Given the description of an element on the screen output the (x, y) to click on. 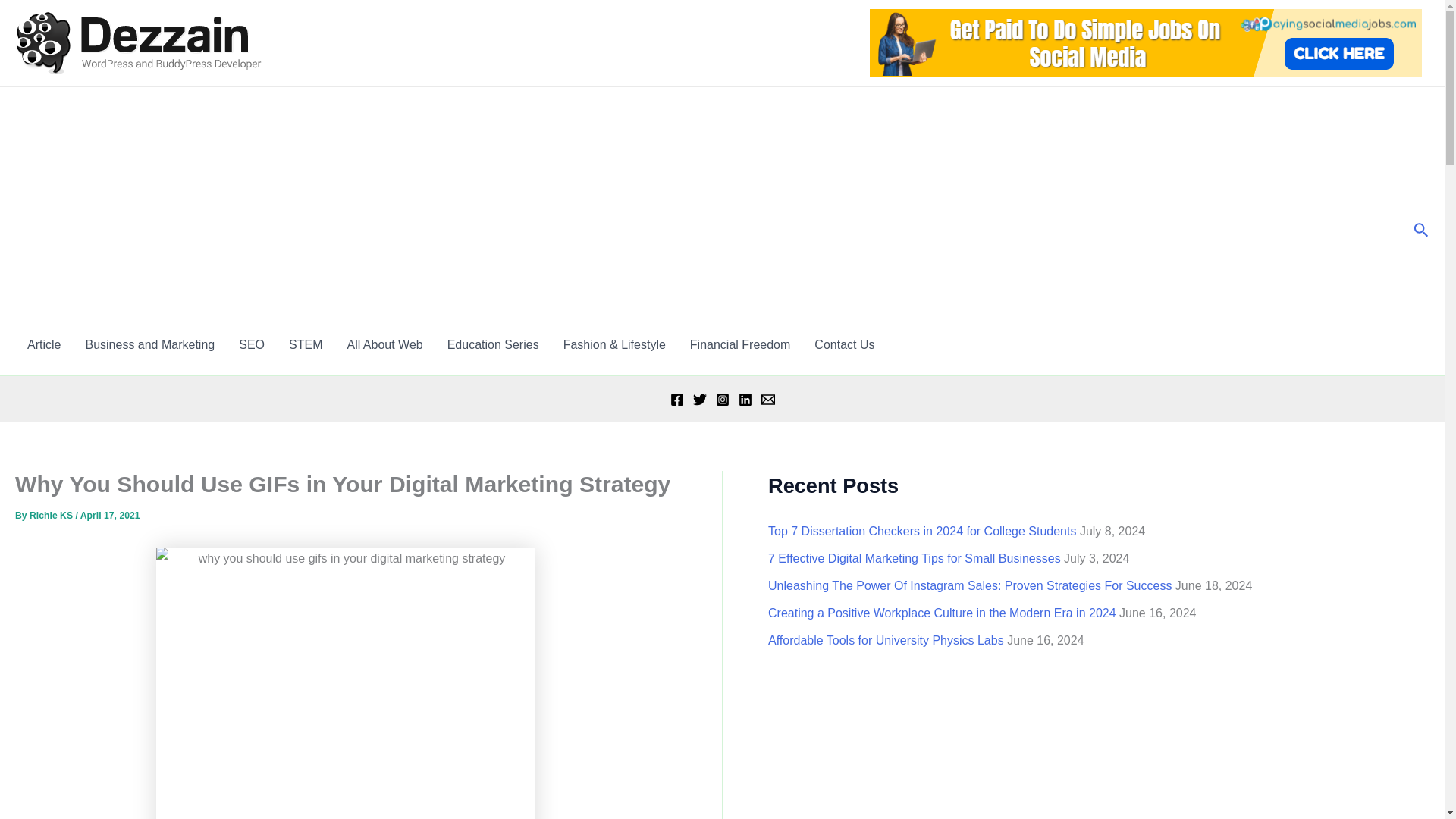
Business and Marketing (149, 344)
Education Series (493, 344)
Financial Freedom (740, 344)
any inquiries? (844, 344)
View all posts by Richie KS (52, 515)
Article (43, 344)
STEM (305, 344)
All About Web (383, 344)
Richie KS (52, 515)
Contact Us (844, 344)
